Given the description of an element on the screen output the (x, y) to click on. 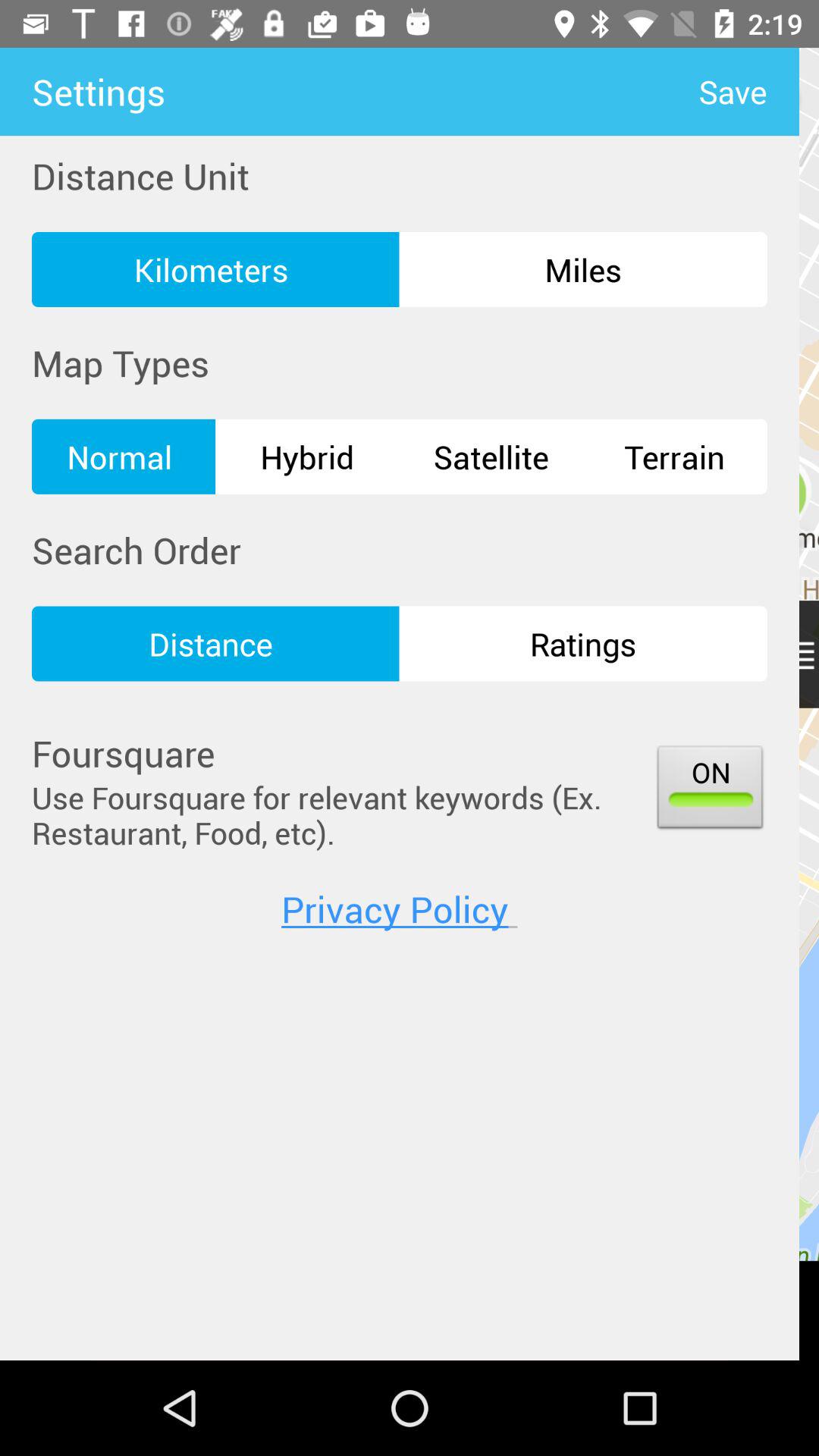
scroll until on icon (710, 790)
